Given the description of an element on the screen output the (x, y) to click on. 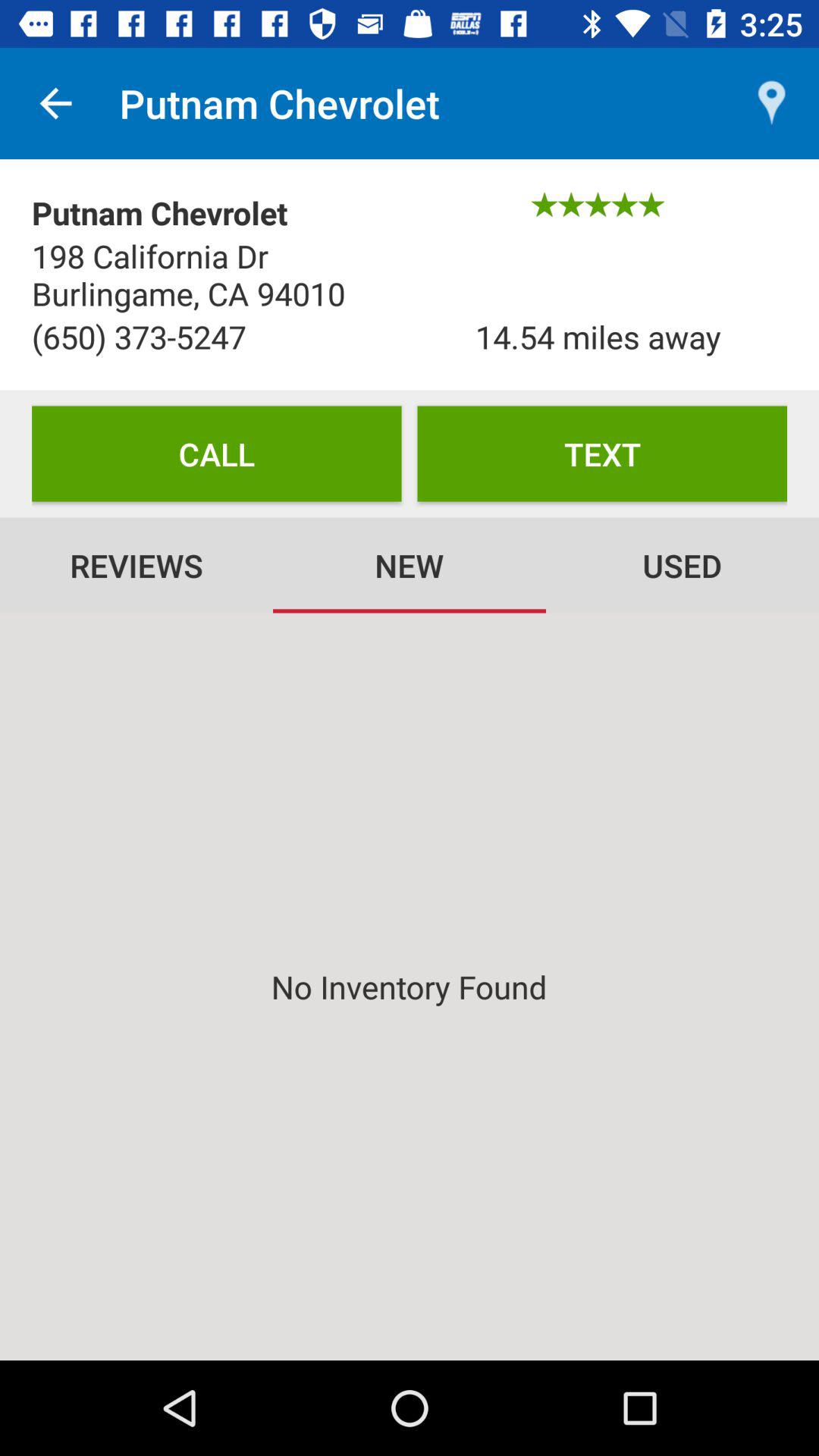
tap icon next to call icon (602, 453)
